Given the description of an element on the screen output the (x, y) to click on. 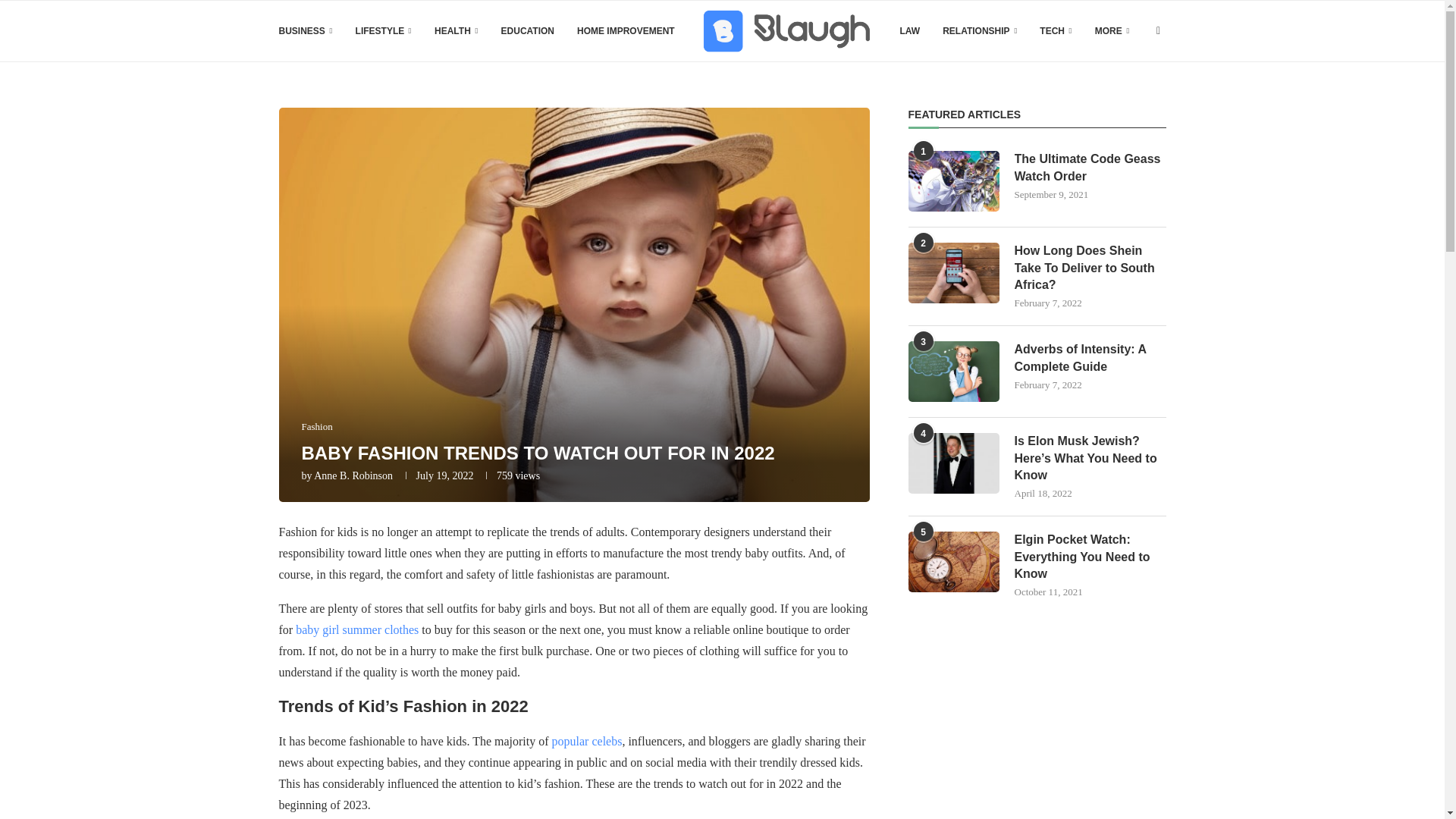
The Ultimate Code Geass Watch Order (953, 180)
HOME IMPROVEMENT (625, 30)
RELATIONSHIP (979, 30)
The Ultimate Code Geass Watch Order (1090, 167)
LIFESTYLE (383, 30)
Fashion (317, 426)
